Given the description of an element on the screen output the (x, y) to click on. 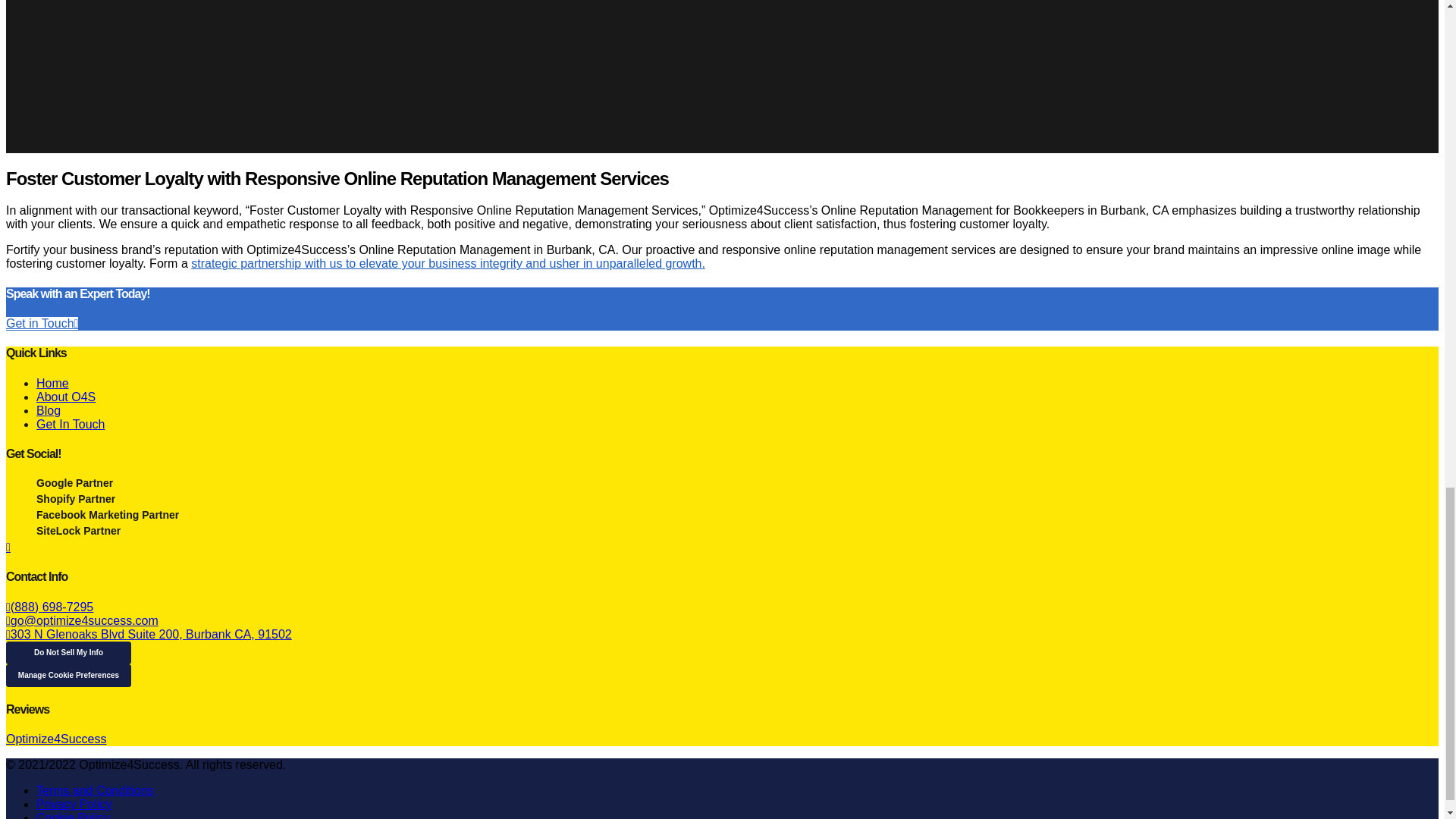
303 N Glenoaks Blvd Suite 200, Burbank CA, 91502 (148, 634)
Get in Touch (41, 323)
Home (52, 382)
About O4S (66, 396)
Blog (48, 410)
Get in Touch (41, 323)
